Given the description of an element on the screen output the (x, y) to click on. 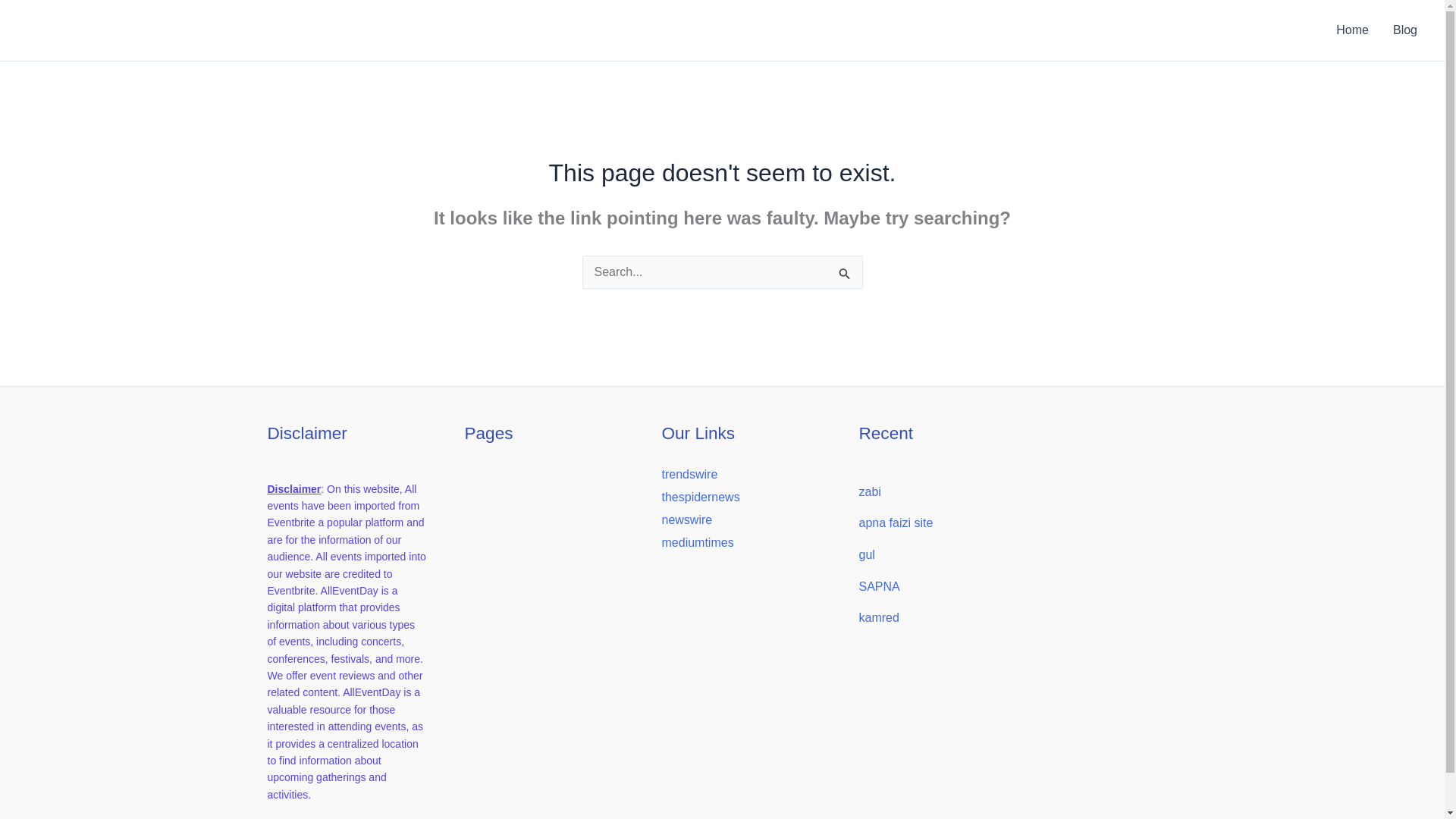
gul (867, 554)
newswire (686, 519)
mediumtimes (697, 542)
trendswire (689, 473)
kamred (878, 617)
zabi (869, 491)
Home (1351, 30)
thespidernews (700, 496)
SAPNA (879, 585)
apna faizi site (896, 522)
